Given the description of an element on the screen output the (x, y) to click on. 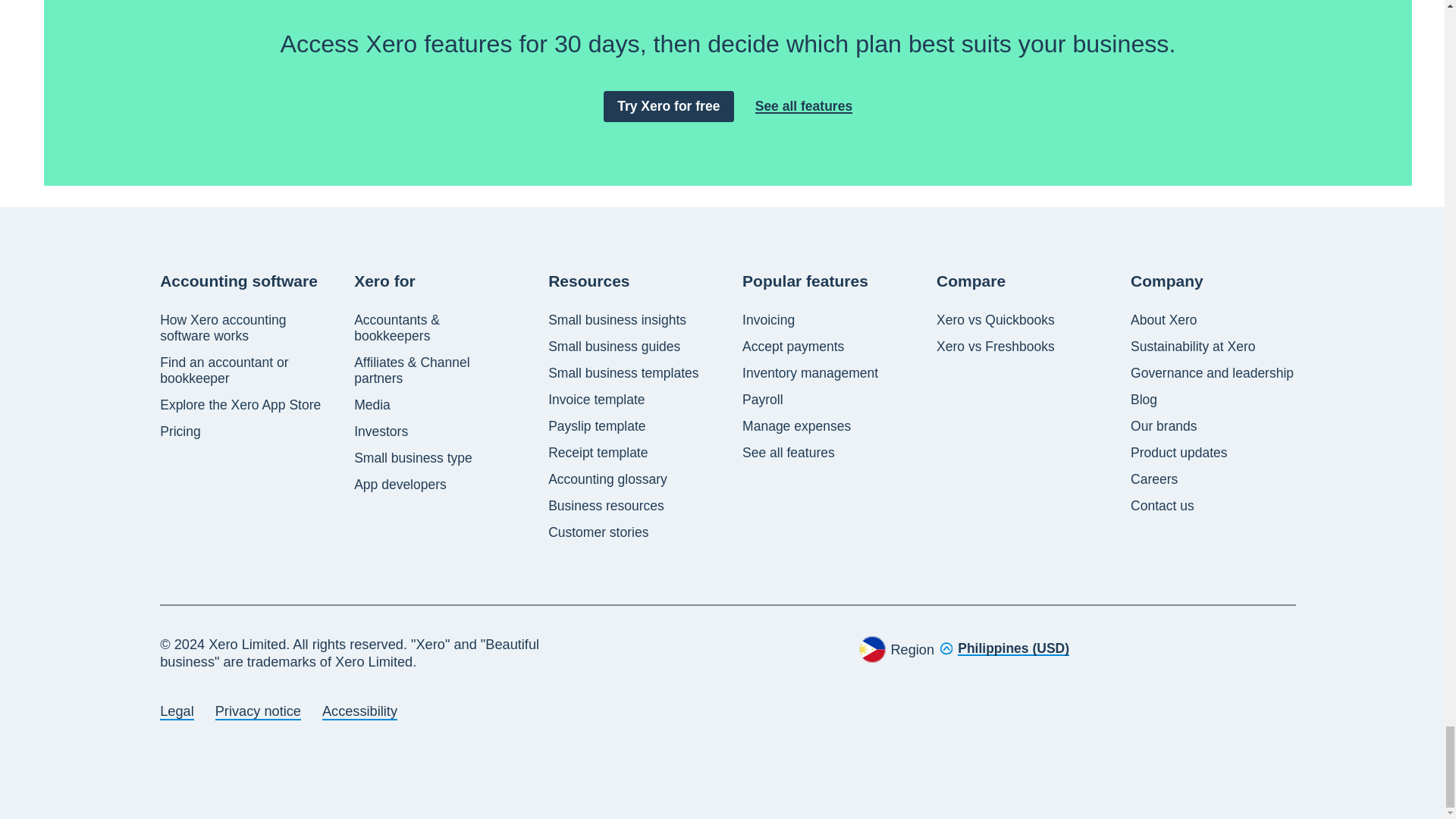
How Xero accounting software works (242, 327)
Media (371, 405)
Small business type (412, 458)
App developers (399, 484)
Investors (380, 431)
Small business guides (613, 346)
Find an accountant or bookkeeper (242, 370)
Small business insights (616, 320)
See all features (803, 106)
Pricing (180, 431)
Explore the Xero App Store (240, 405)
Try Xero for free (668, 106)
